Given the description of an element on the screen output the (x, y) to click on. 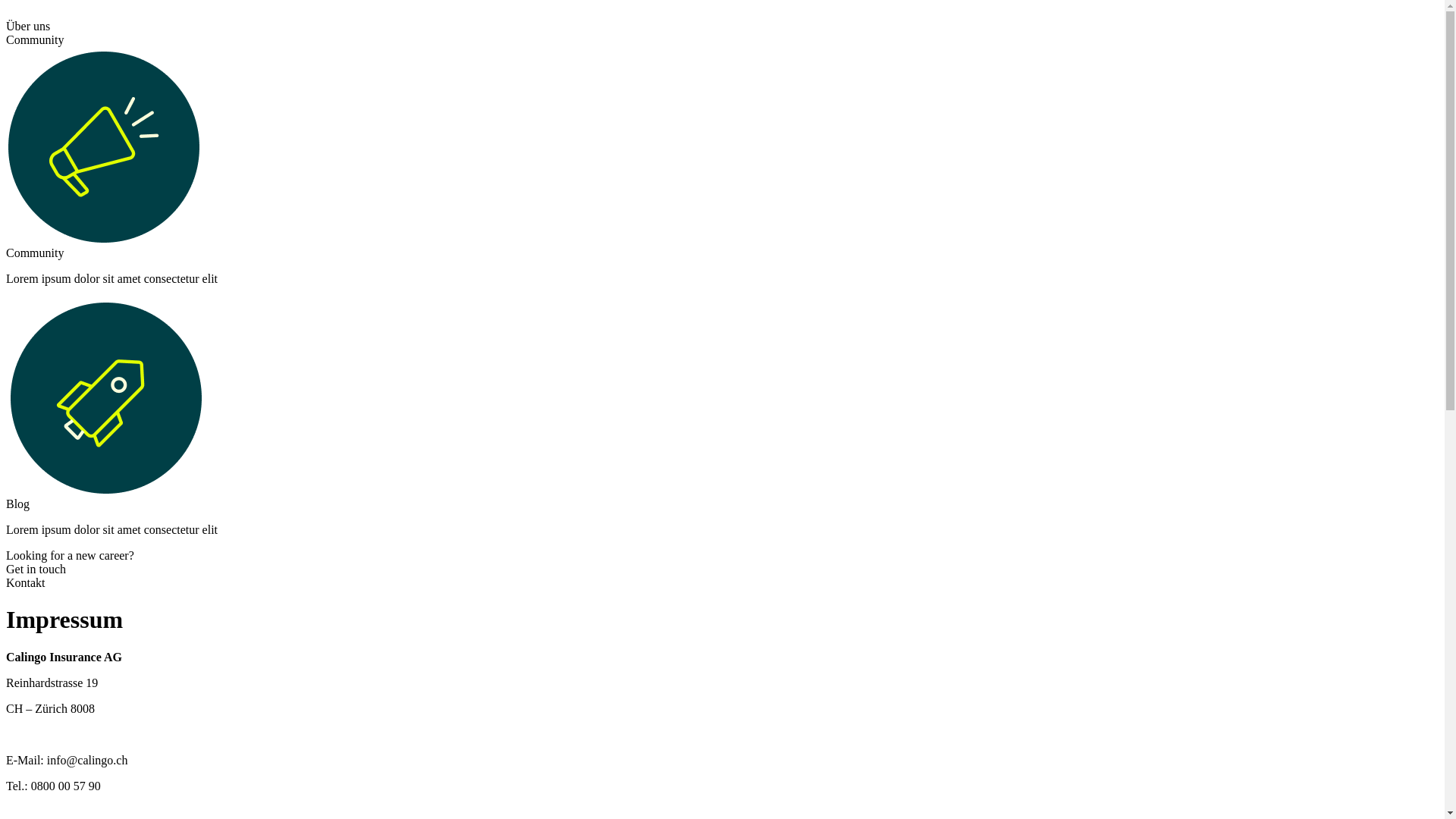
Blog
Lorem ipsum dolor sit amet consectetur elit Element type: text (722, 417)
Get in touch Element type: text (35, 568)
Kontakt Element type: text (25, 582)
Community
Lorem ipsum dolor sit amet consectetur elit Element type: text (722, 166)
